Given the description of an element on the screen output the (x, y) to click on. 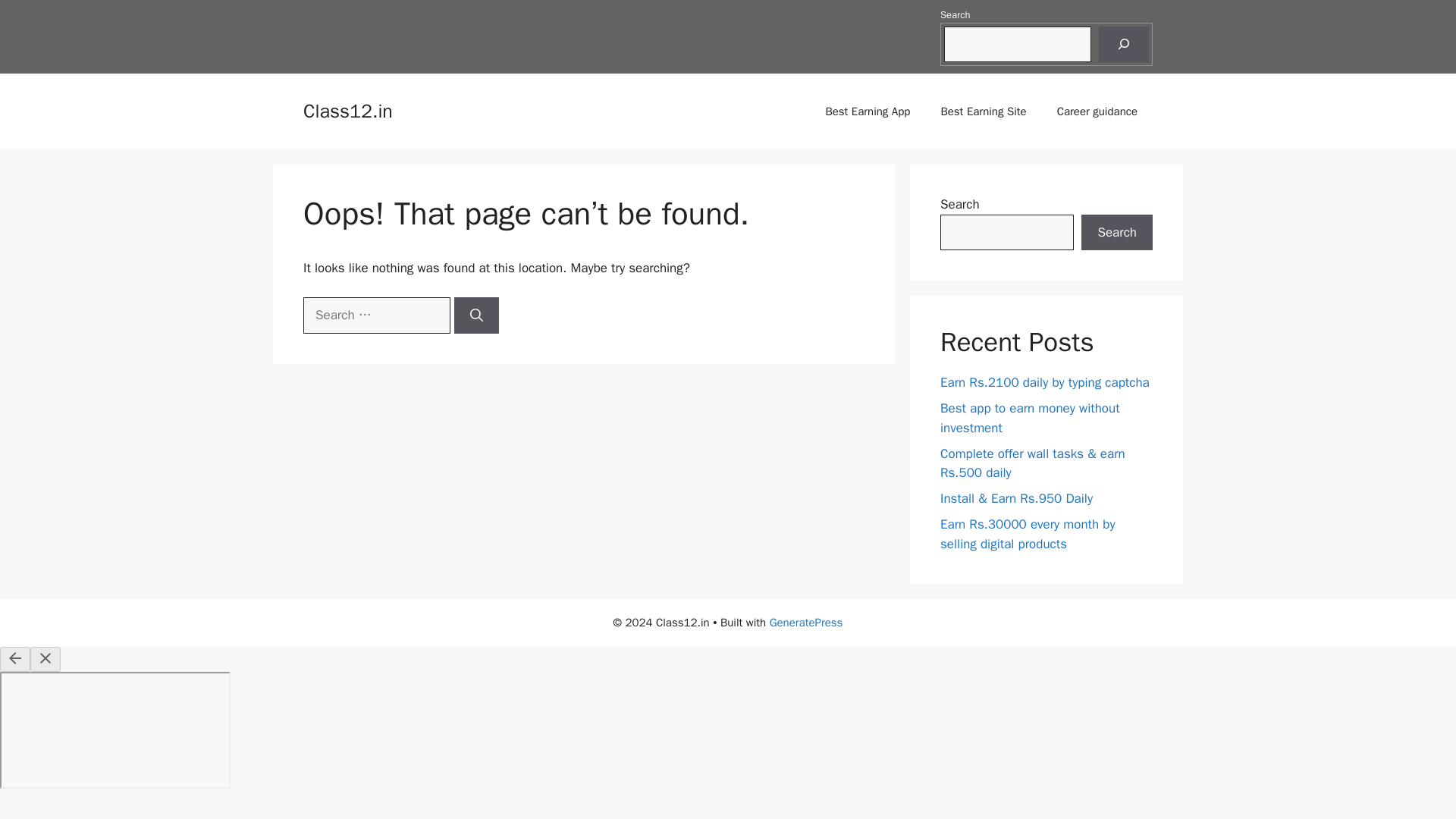
Class12.in (347, 110)
Search for: (375, 315)
Best app to earn money without investment (1029, 417)
Earn Rs.2100 daily by typing captcha (1045, 382)
Best Earning Site (982, 111)
GeneratePress (806, 622)
Search (1117, 231)
Career guidance (1097, 111)
Best Earning App (866, 111)
Earn Rs.30000 every month by selling digital products (1027, 534)
